Given the description of an element on the screen output the (x, y) to click on. 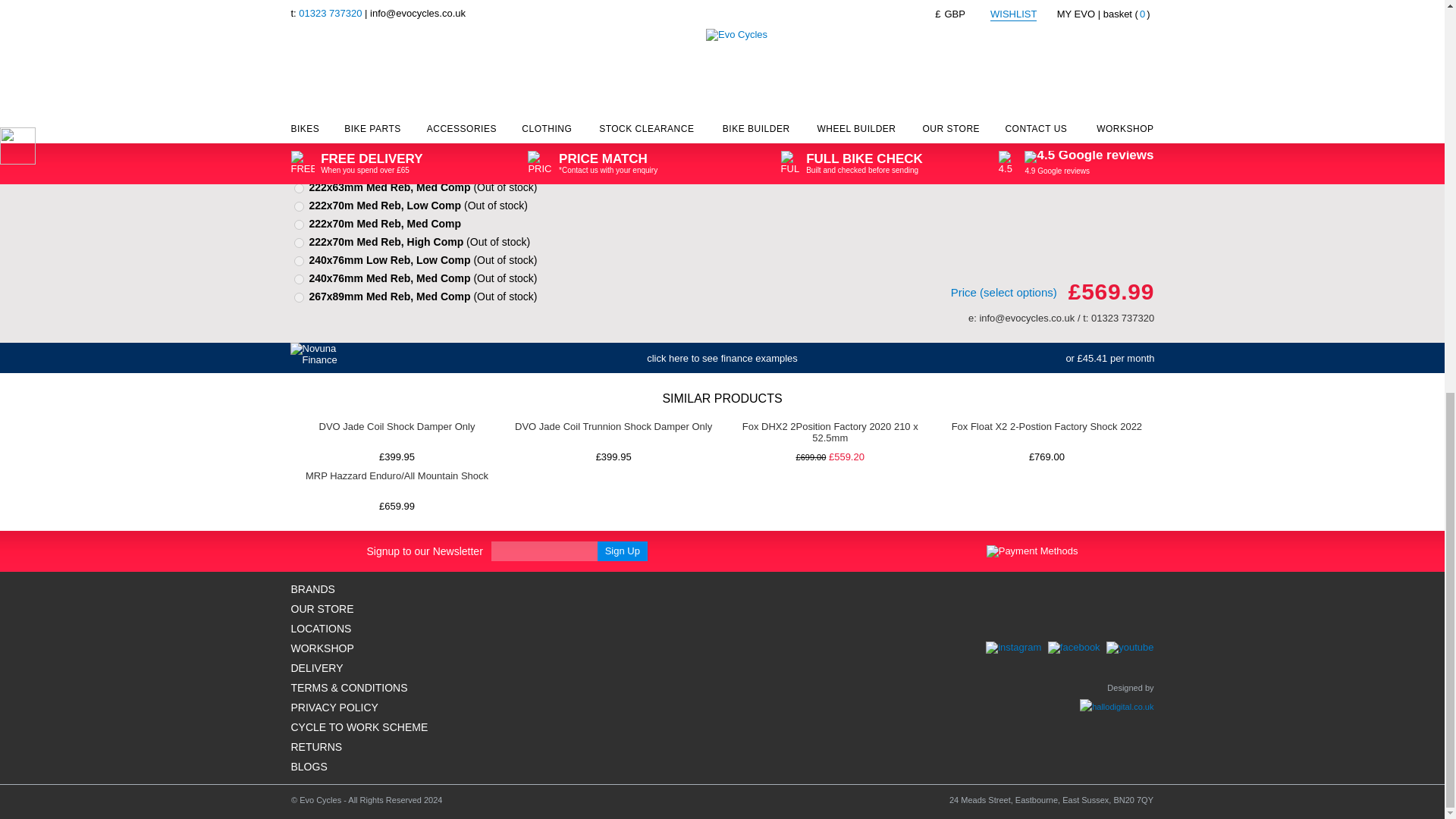
7 (299, 297)
6 (299, 279)
Sign Up (621, 551)
1 (299, 188)
3 (299, 225)
5 (299, 261)
2 (299, 206)
4 (299, 243)
